Given the description of an element on the screen output the (x, y) to click on. 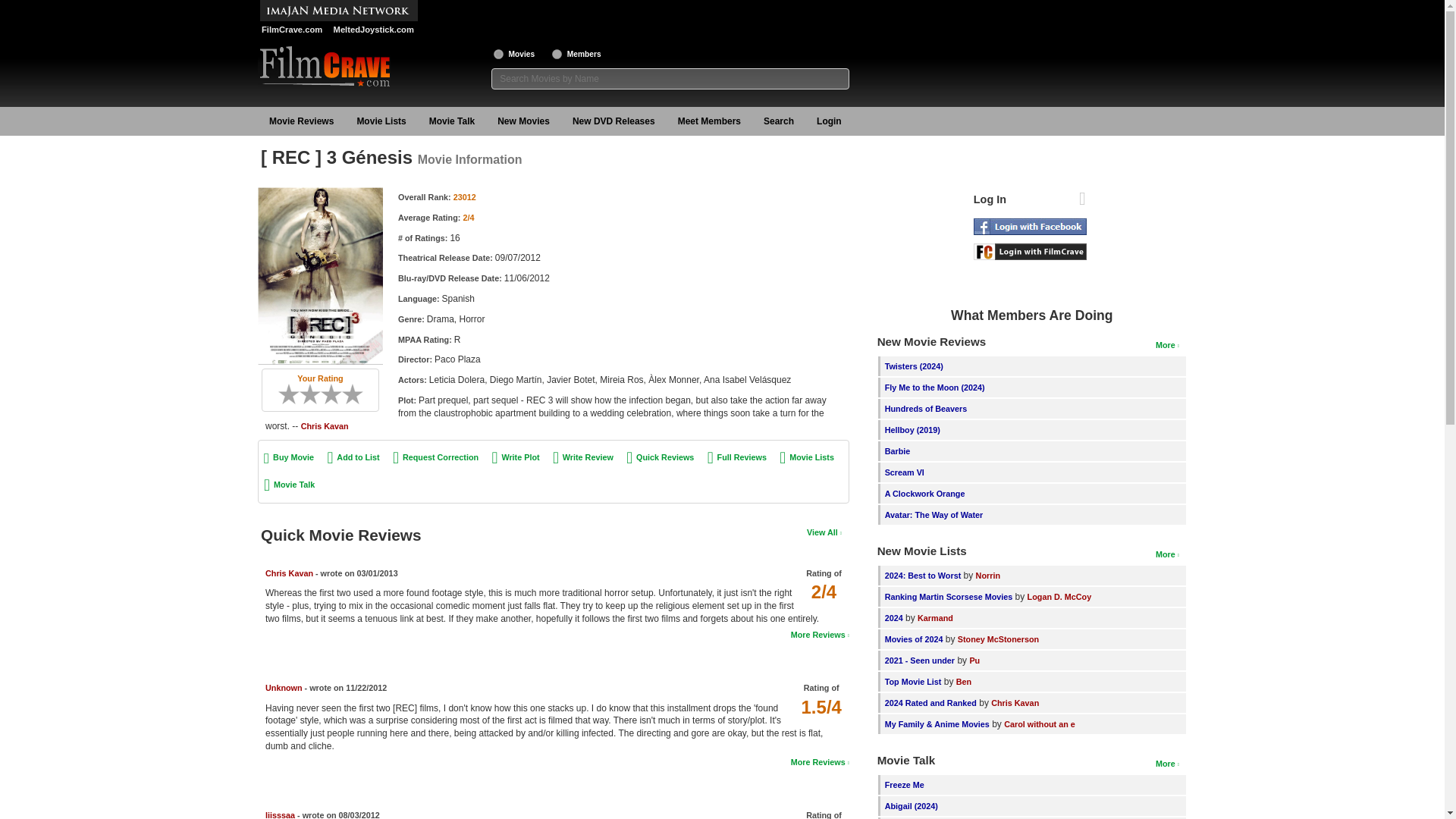
New Movies (523, 121)
Read more reviews from Unknown (819, 761)
MeltedJoystick Video Game Social Network (371, 29)
2 out of 4 stars (822, 591)
Movie Lists (380, 121)
FilmCrave Movie Social Network (291, 29)
2 out of 4 stars (468, 216)
Movie review by Chris Kavan (288, 573)
1.5 out of 4 stars (821, 706)
Movie review by Unknown (283, 687)
Meet Members (709, 121)
Search (778, 121)
FilmCrave.com (291, 29)
MeltedJoystick.com (371, 29)
New DVD Releases (613, 121)
